Given the description of an element on the screen output the (x, y) to click on. 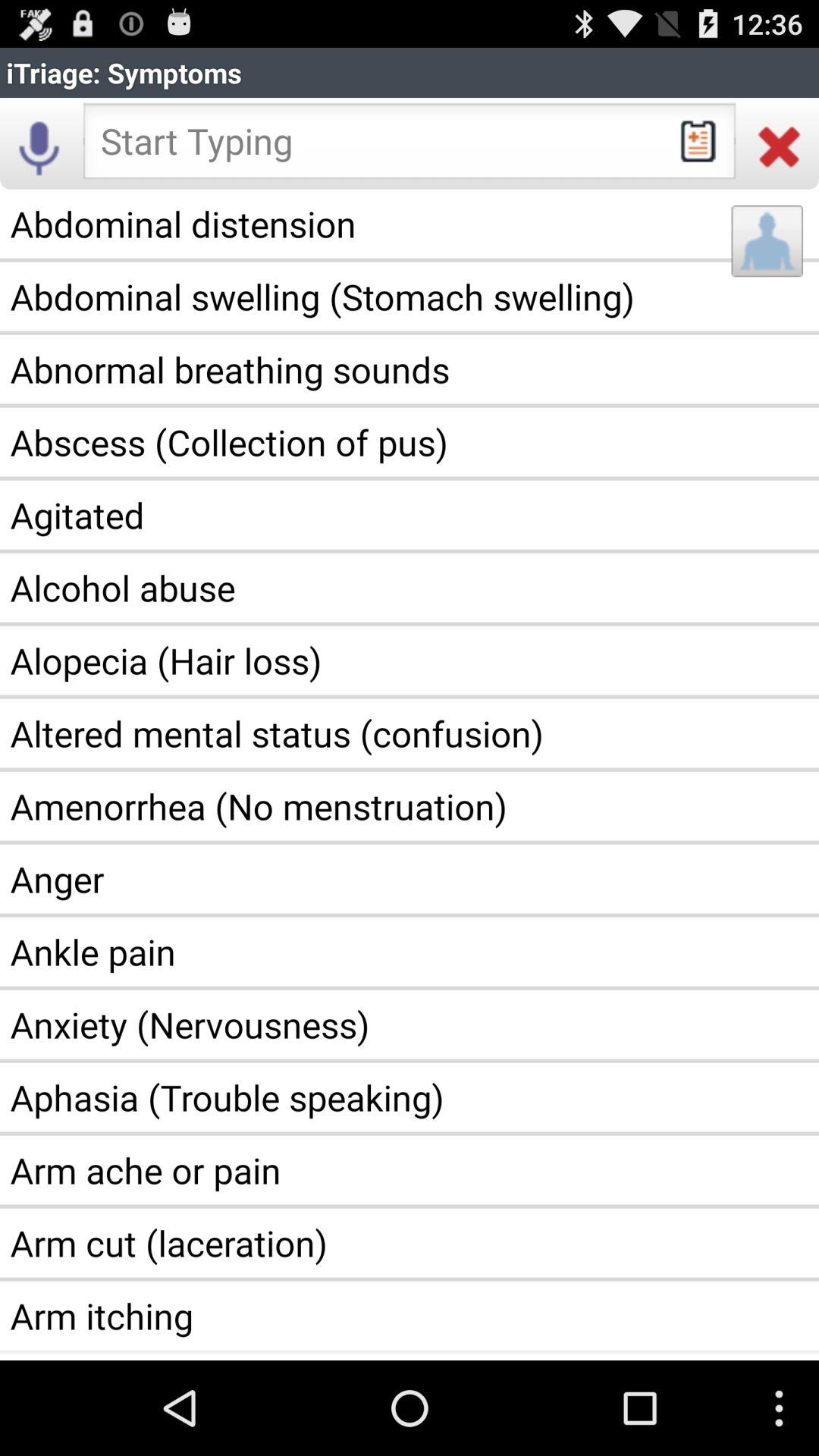
press the icon above the abdominal distension app (39, 145)
